Given the description of an element on the screen output the (x, y) to click on. 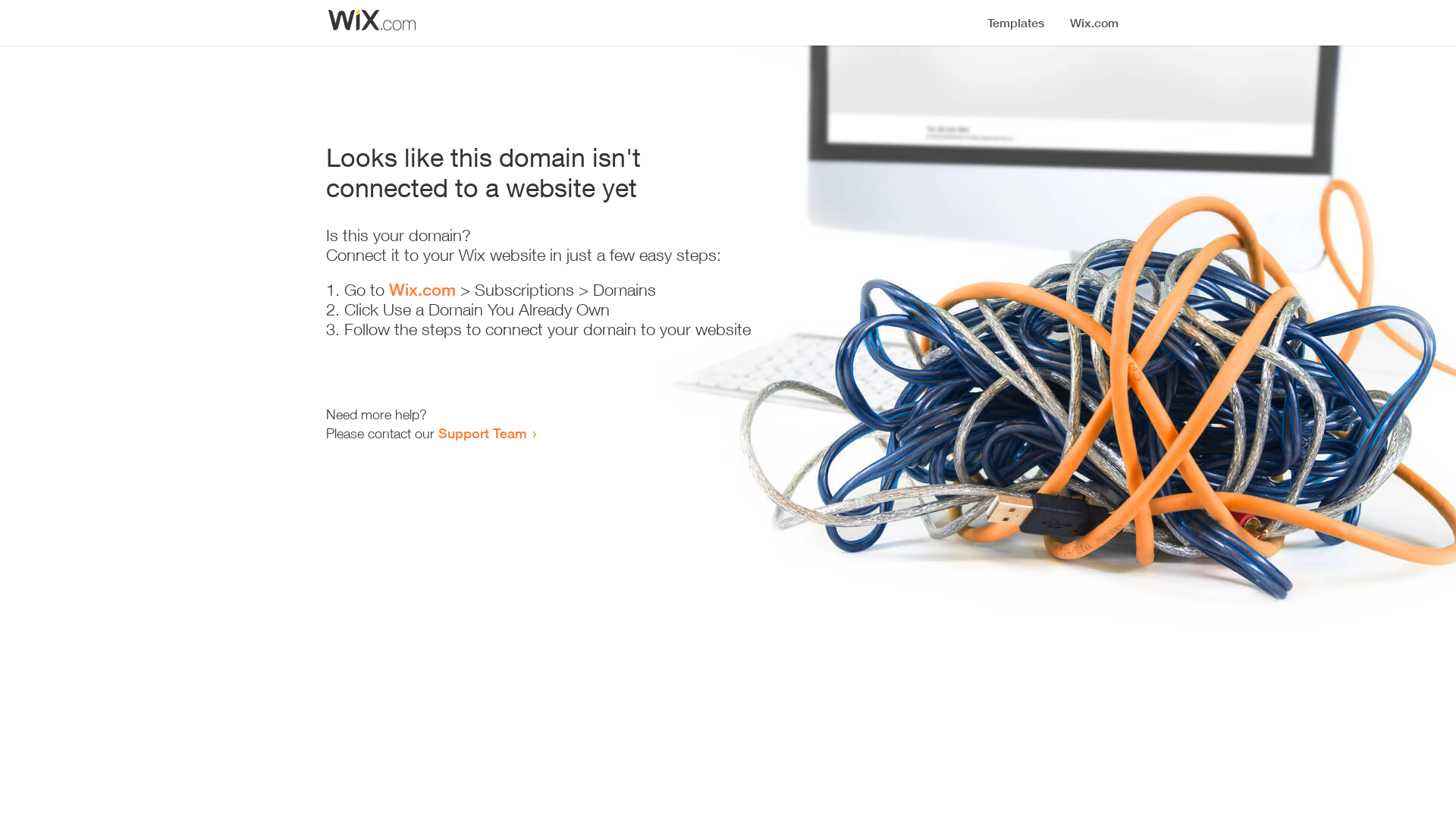
Wix.com Element type: text (422, 289)
Support Team Element type: text (482, 432)
